Given the description of an element on the screen output the (x, y) to click on. 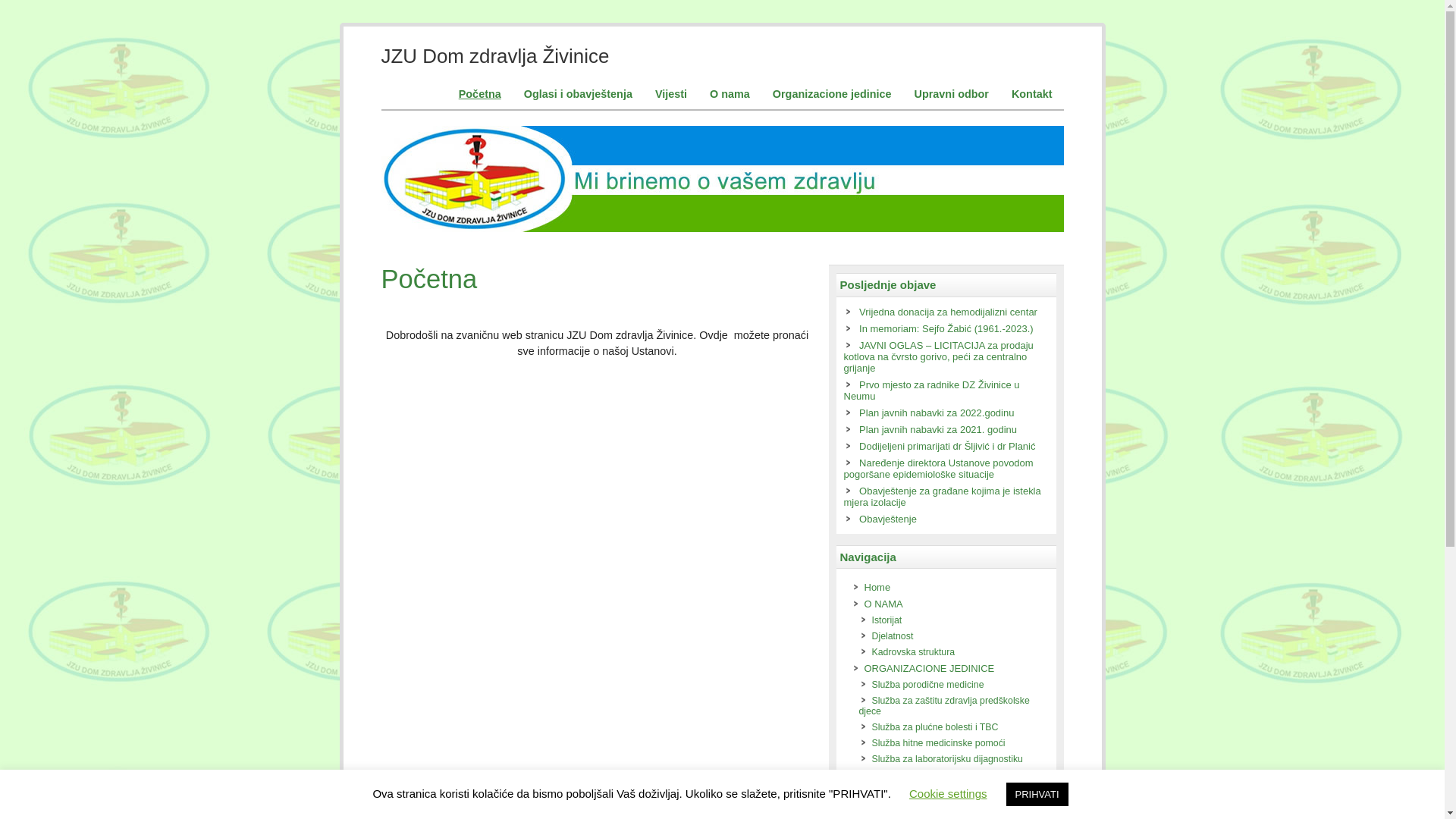
Plan javnih nabavki za 2021. godinu Element type: text (937, 429)
ORGANIZACIONE JEDINICE Element type: text (929, 668)
Vijesti Element type: text (670, 93)
Kontakt Element type: text (1031, 93)
Organizacione jedinice Element type: text (832, 93)
Djelatnost Element type: text (892, 635)
O nama Element type: text (729, 93)
Kadrovska struktura Element type: text (913, 651)
Istorijat Element type: text (887, 620)
PRIHVATI Element type: text (1037, 794)
Upravni odbor Element type: text (951, 93)
Vrijedna donacija za hemodijalizni centar Element type: text (948, 311)
Cookie settings Element type: text (948, 793)
O NAMA Element type: text (883, 603)
Plan javnih nabavki za 2022.godinu Element type: text (936, 412)
Home Element type: text (877, 587)
